Given the description of an element on the screen output the (x, y) to click on. 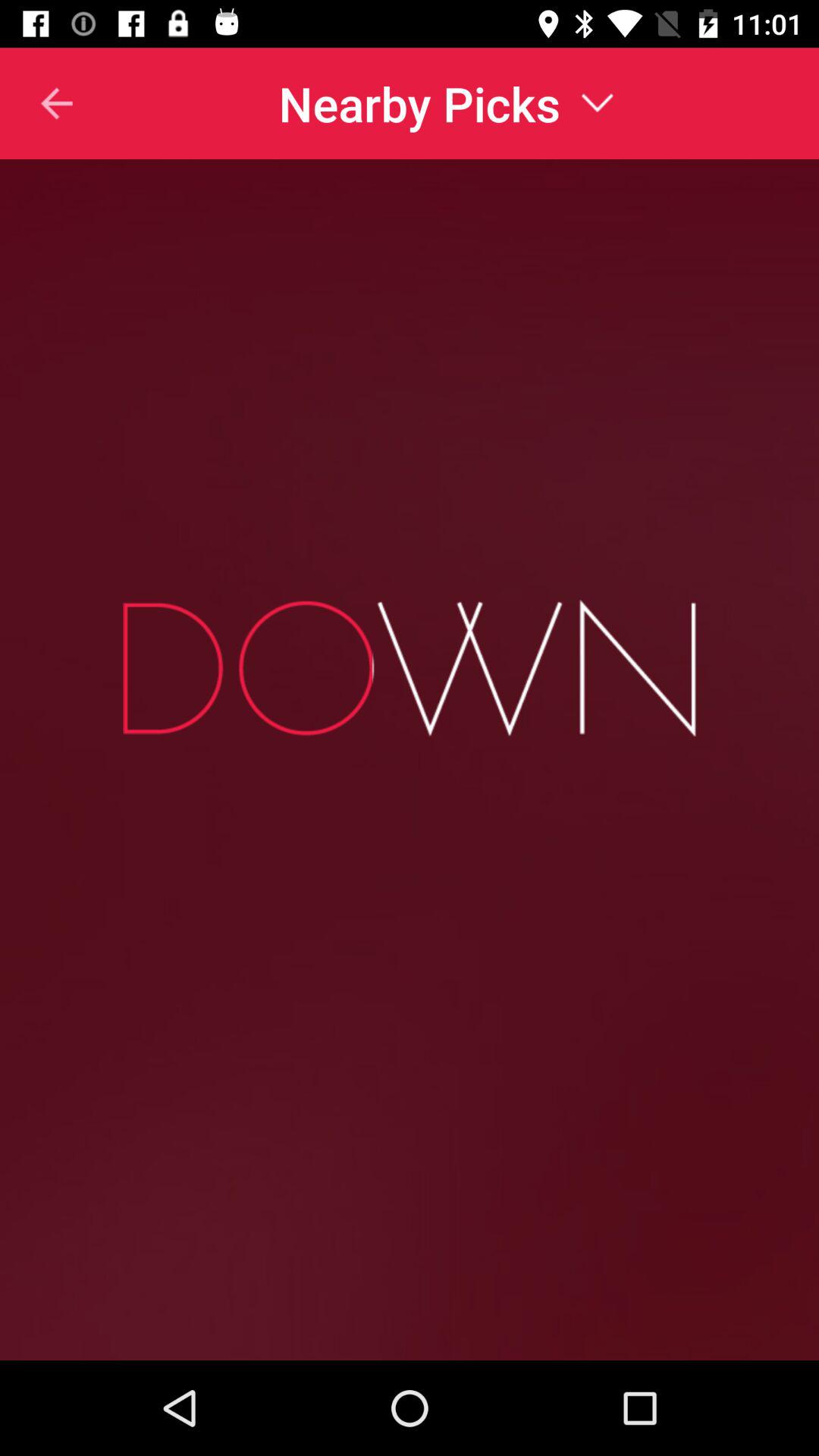
turn on nearby picks item (446, 103)
